Given the description of an element on the screen output the (x, y) to click on. 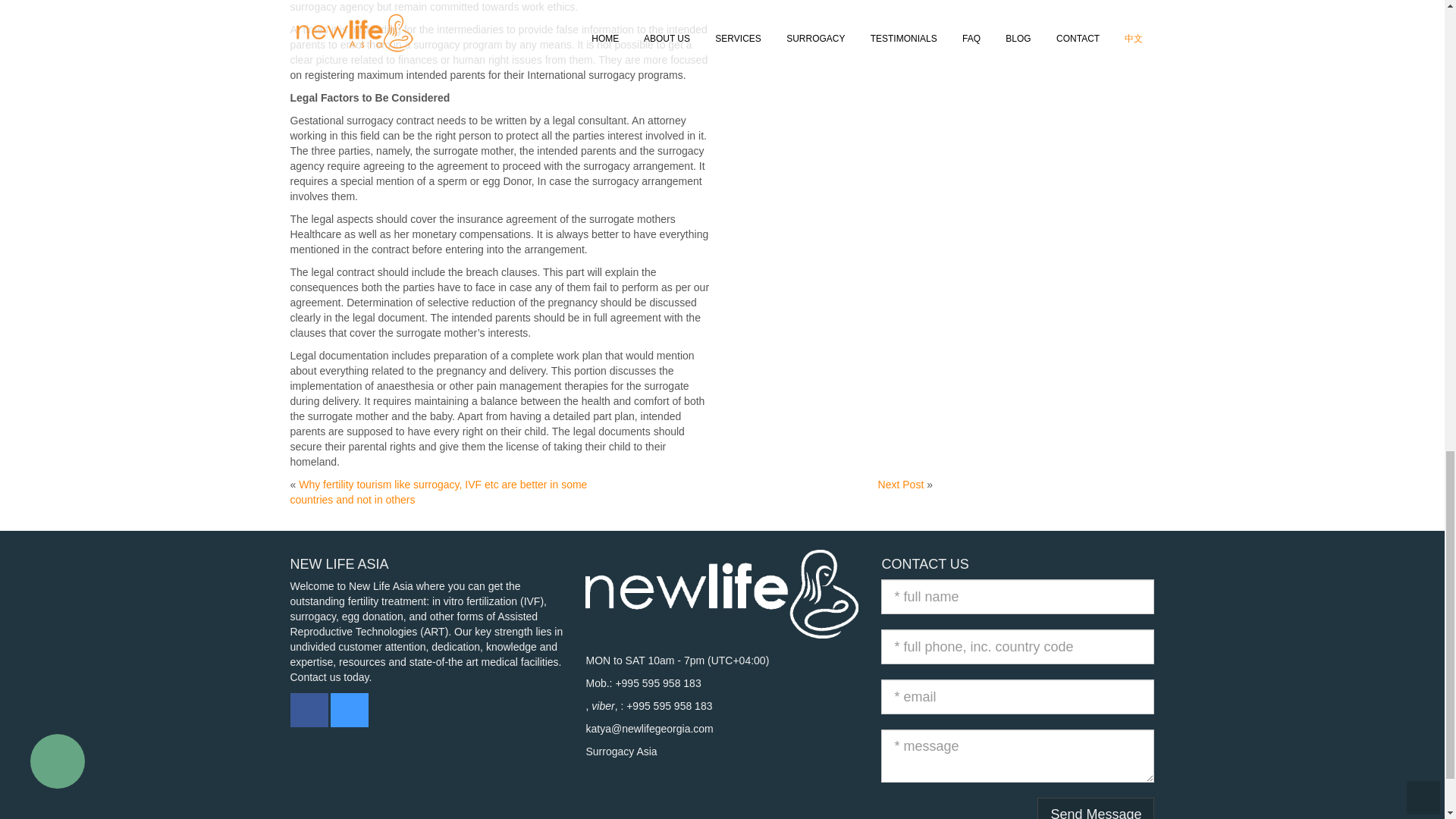
Next Post (900, 484)
